Given the description of an element on the screen output the (x, y) to click on. 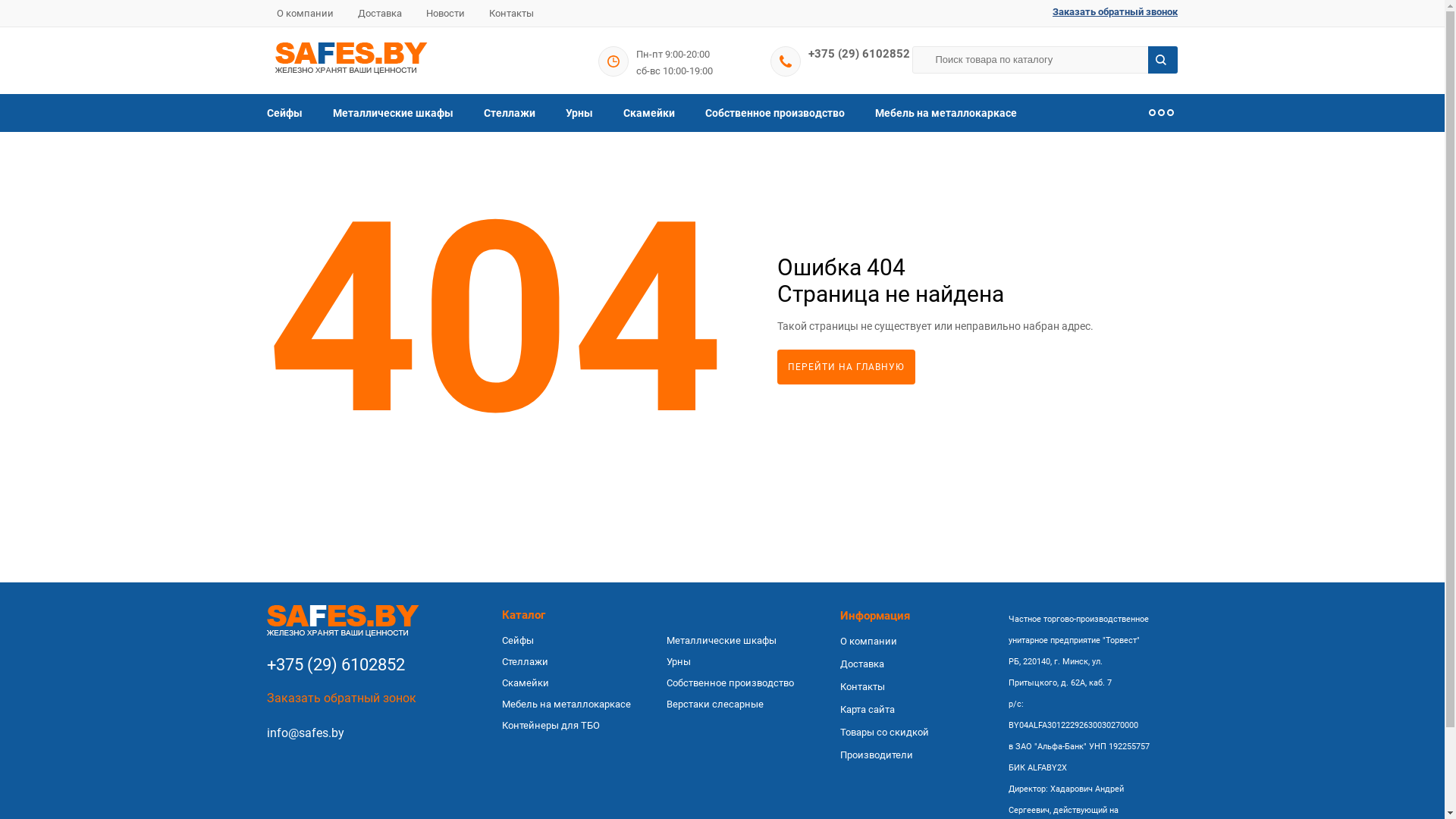
+375 (29) 6102852 Element type: text (859, 53)
safes.by Element type: hover (350, 58)
+375 (29) 6102852 Element type: text (351, 668)
safes.by Element type: hover (342, 621)
info@safes.by Element type: text (305, 732)
